Given the description of an element on the screen output the (x, y) to click on. 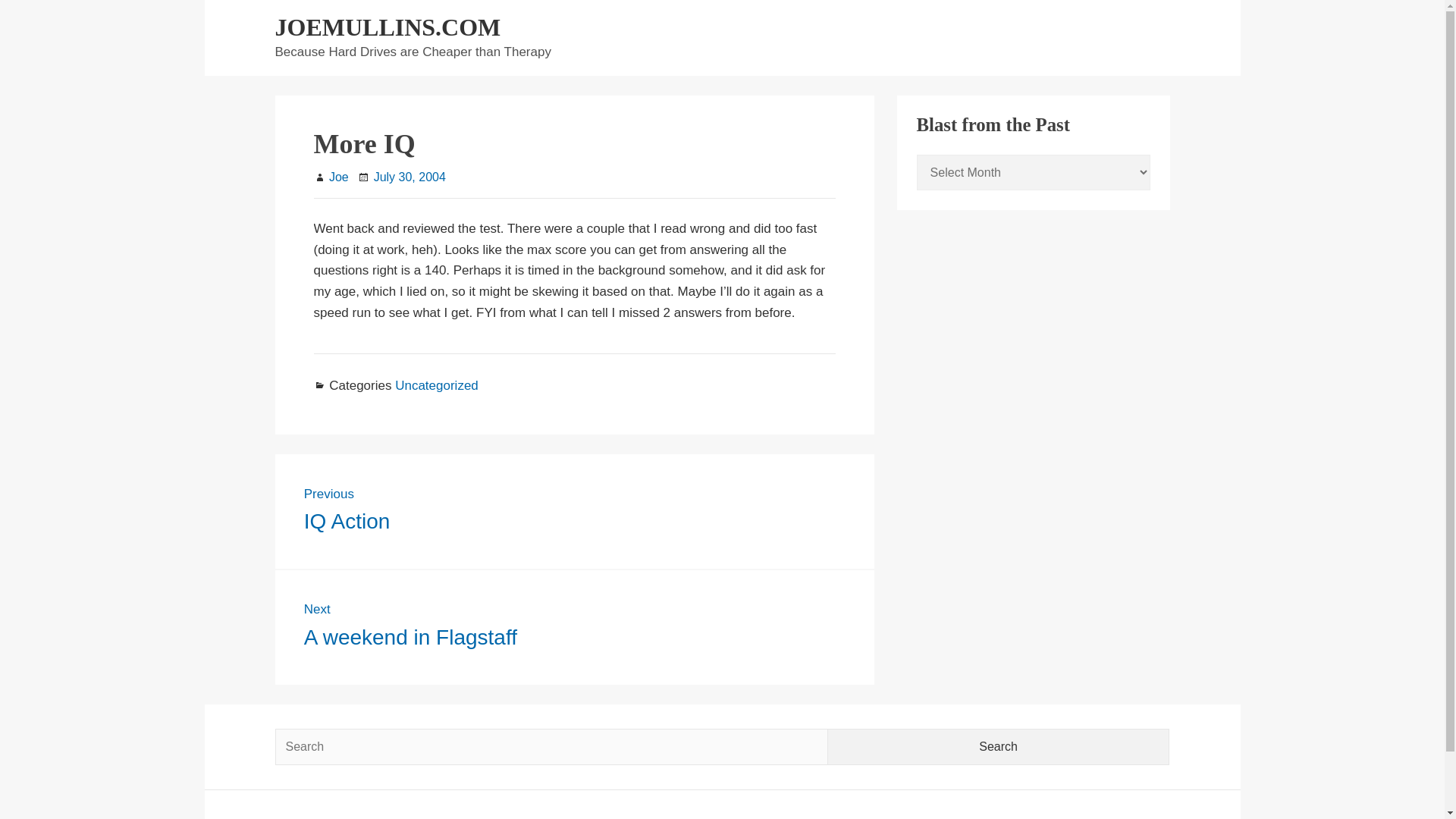
JOEMULLINS.COM (575, 511)
July 30, 2004 (387, 26)
Joe (409, 176)
Uncategorized (339, 176)
Search for: (436, 385)
Search (551, 746)
Search (999, 746)
Search (999, 746)
